Given the description of an element on the screen output the (x, y) to click on. 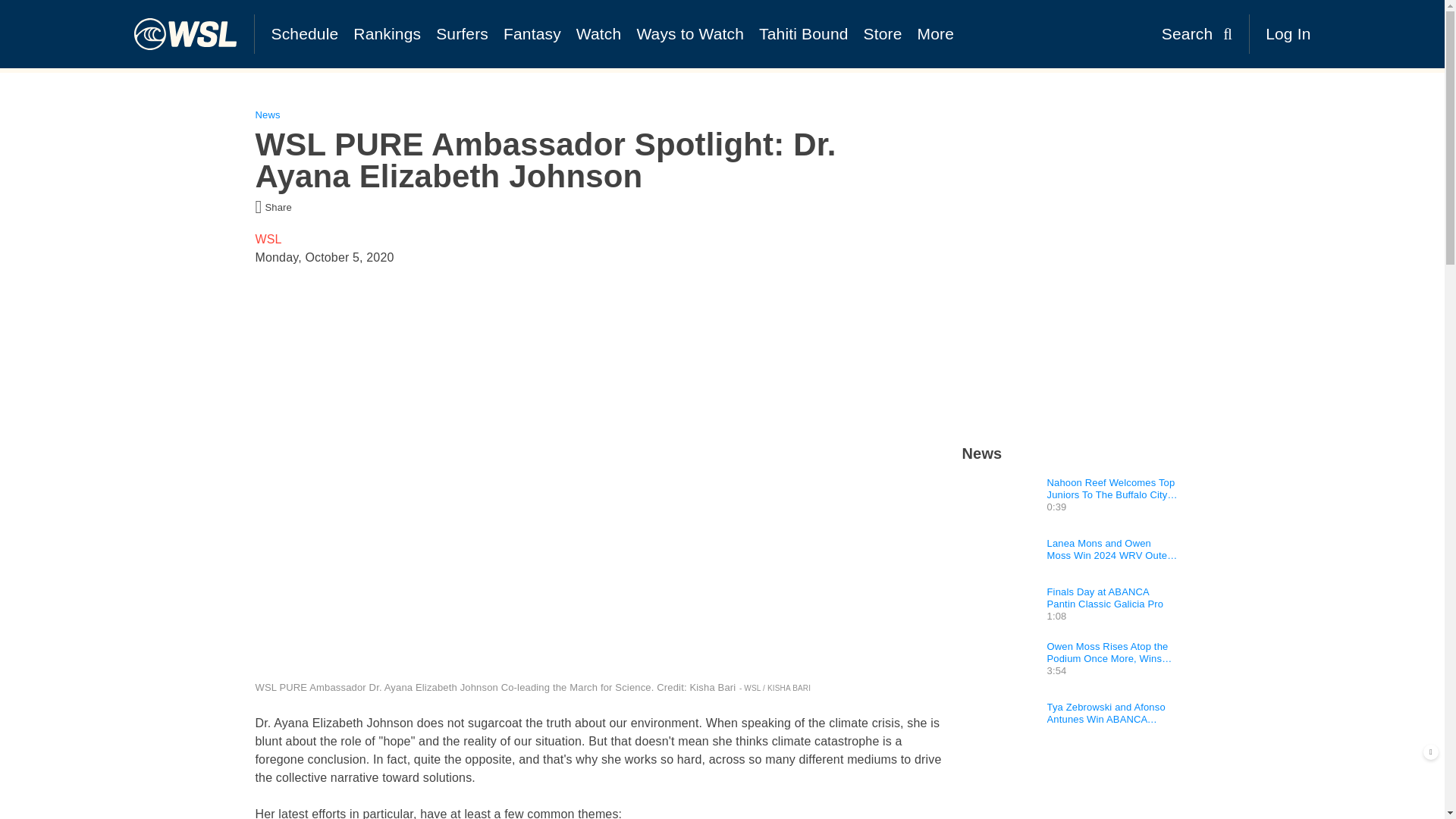
Tahiti Bound (803, 33)
Fantasy (532, 33)
Ways to Watch (689, 33)
Surfers (462, 33)
Search (1197, 33)
News (980, 452)
News (266, 114)
Watch (598, 33)
Schedule (304, 33)
Rankings (387, 33)
